Given the description of an element on the screen output the (x, y) to click on. 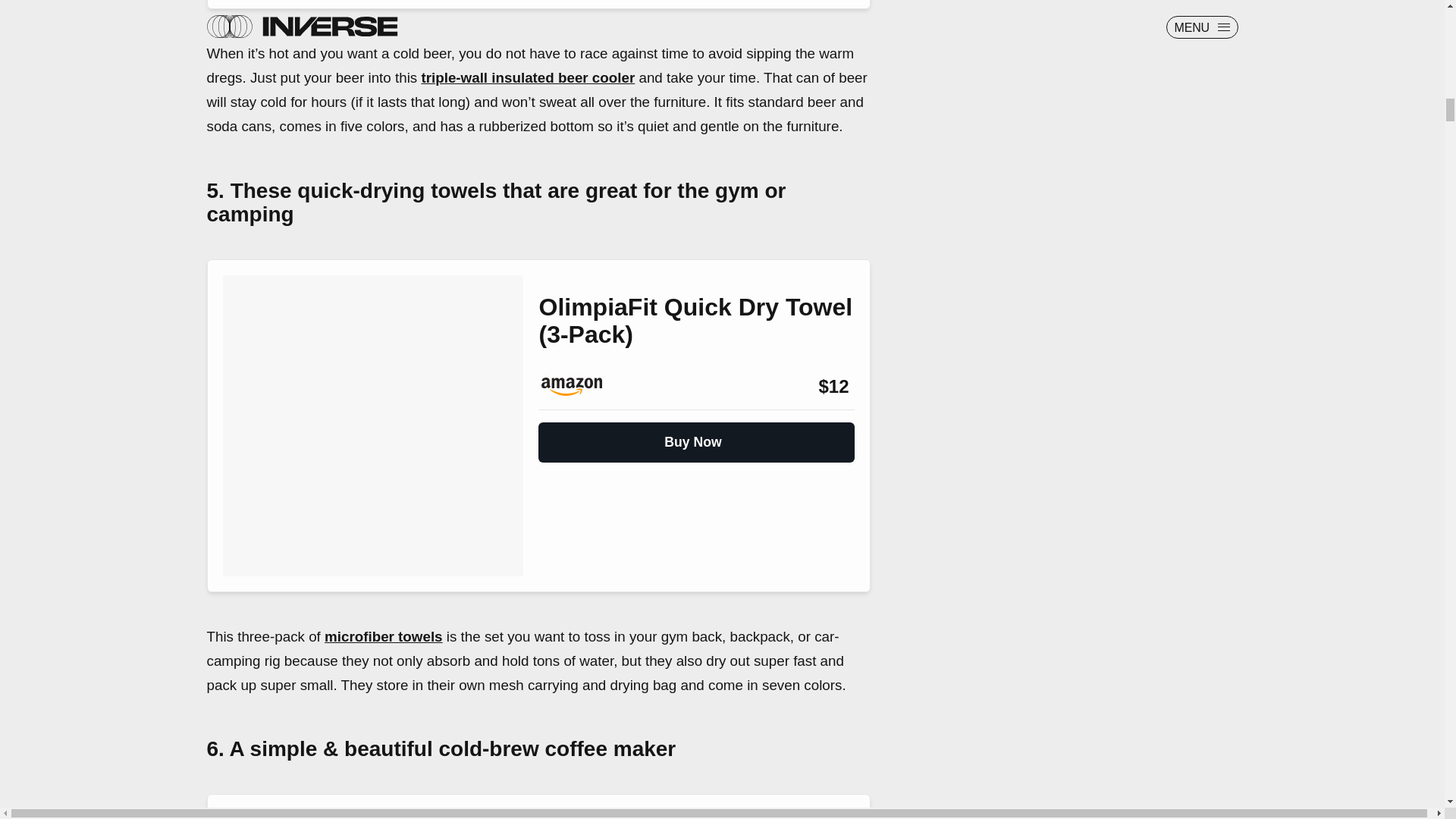
microfiber towels (383, 636)
Amazon (579, 386)
Buy Now (696, 435)
triple-wall insulated beer cooler (527, 77)
